Given the description of an element on the screen output the (x, y) to click on. 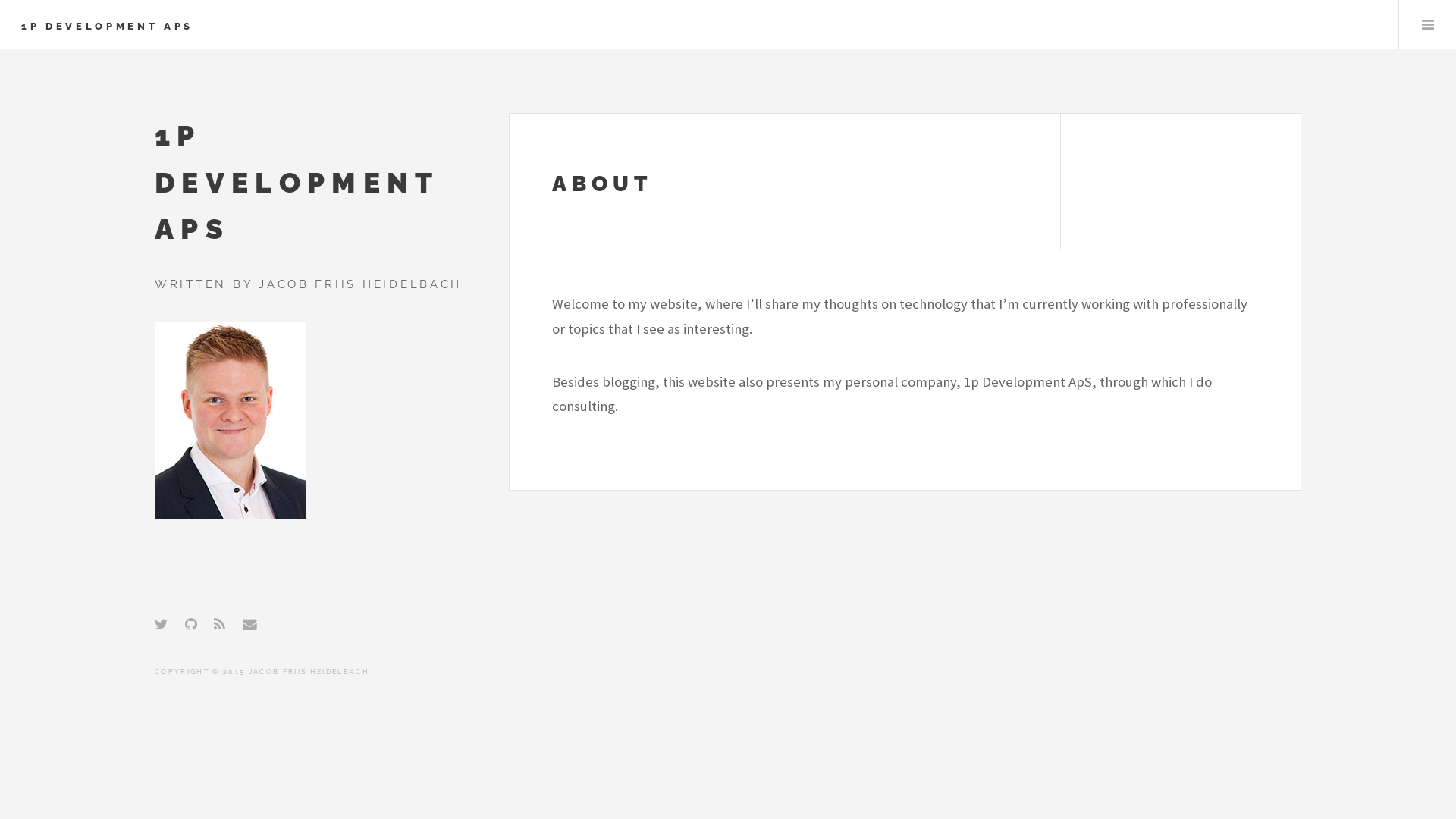
1P DEVELOPMENT APS Element type: text (107, 25)
1p Development ApS Element type: text (1027, 382)
ABOUT Element type: text (602, 183)
